Given the description of an element on the screen output the (x, y) to click on. 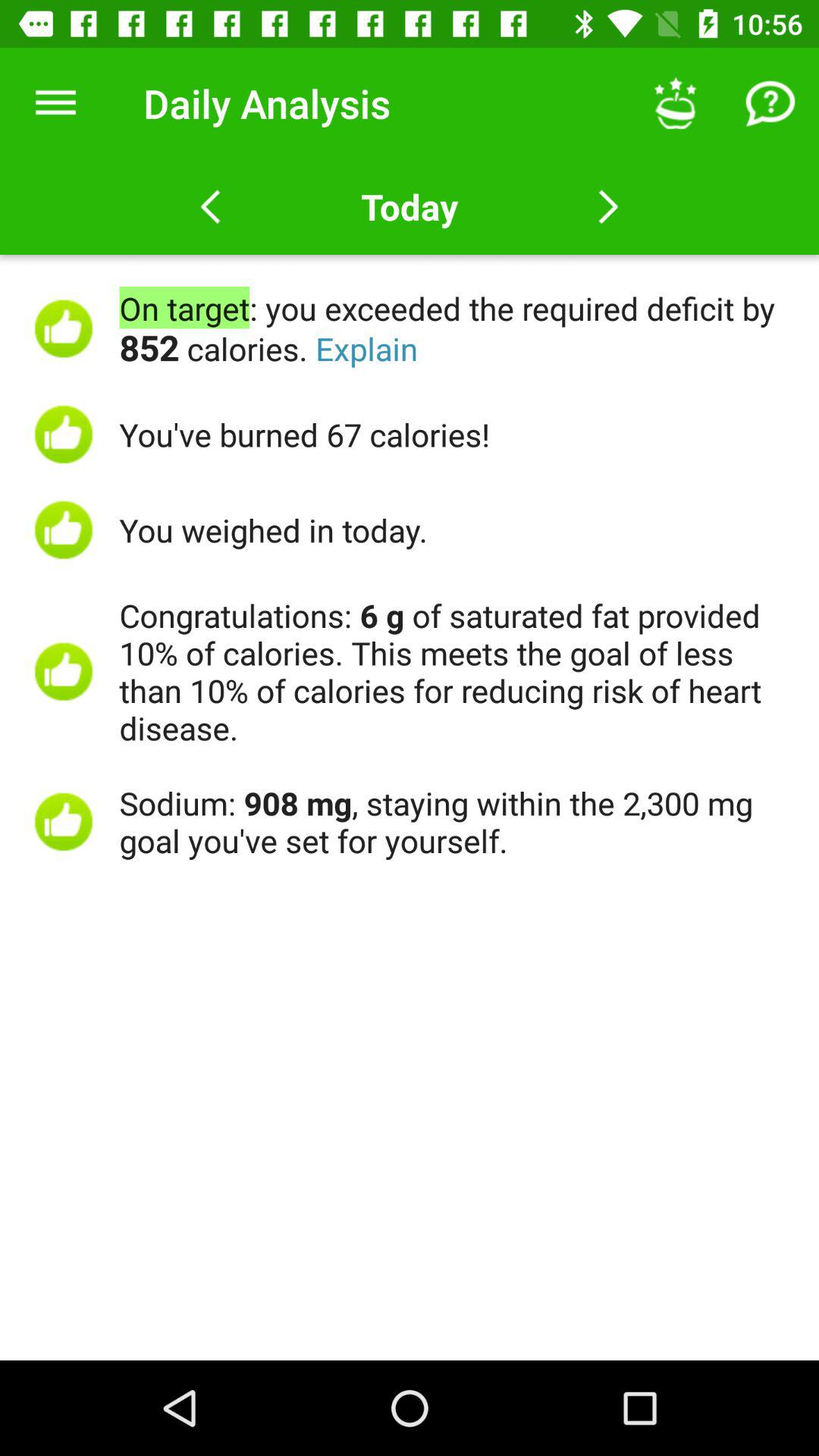
go to previous day (210, 206)
